Given the description of an element on the screen output the (x, y) to click on. 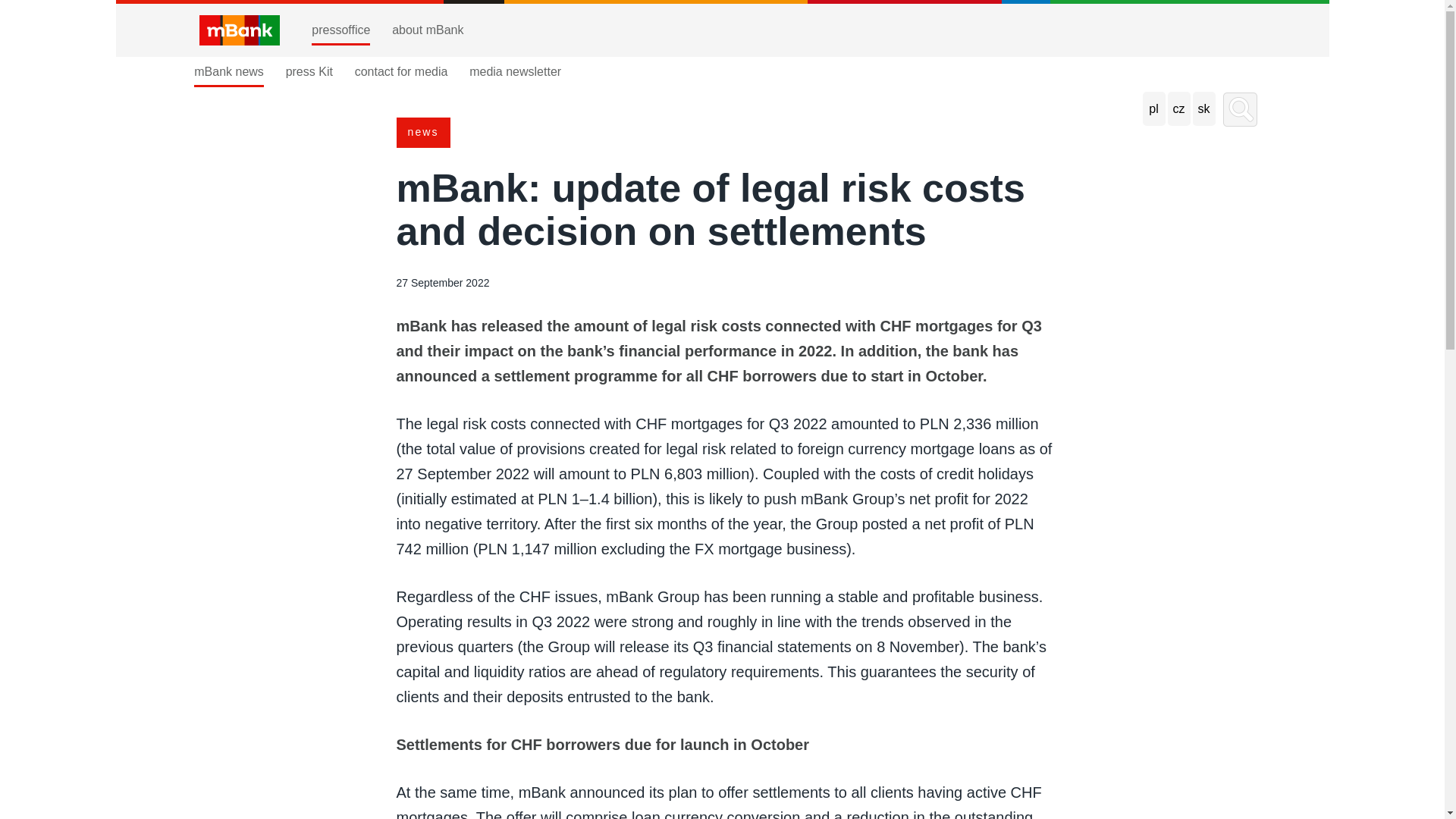
Pressoffice (340, 30)
News (422, 131)
About mBank (427, 30)
Media newsletter (514, 71)
Contact for media (401, 71)
Press Kit (309, 71)
mBank news (228, 71)
